Given the description of an element on the screen output the (x, y) to click on. 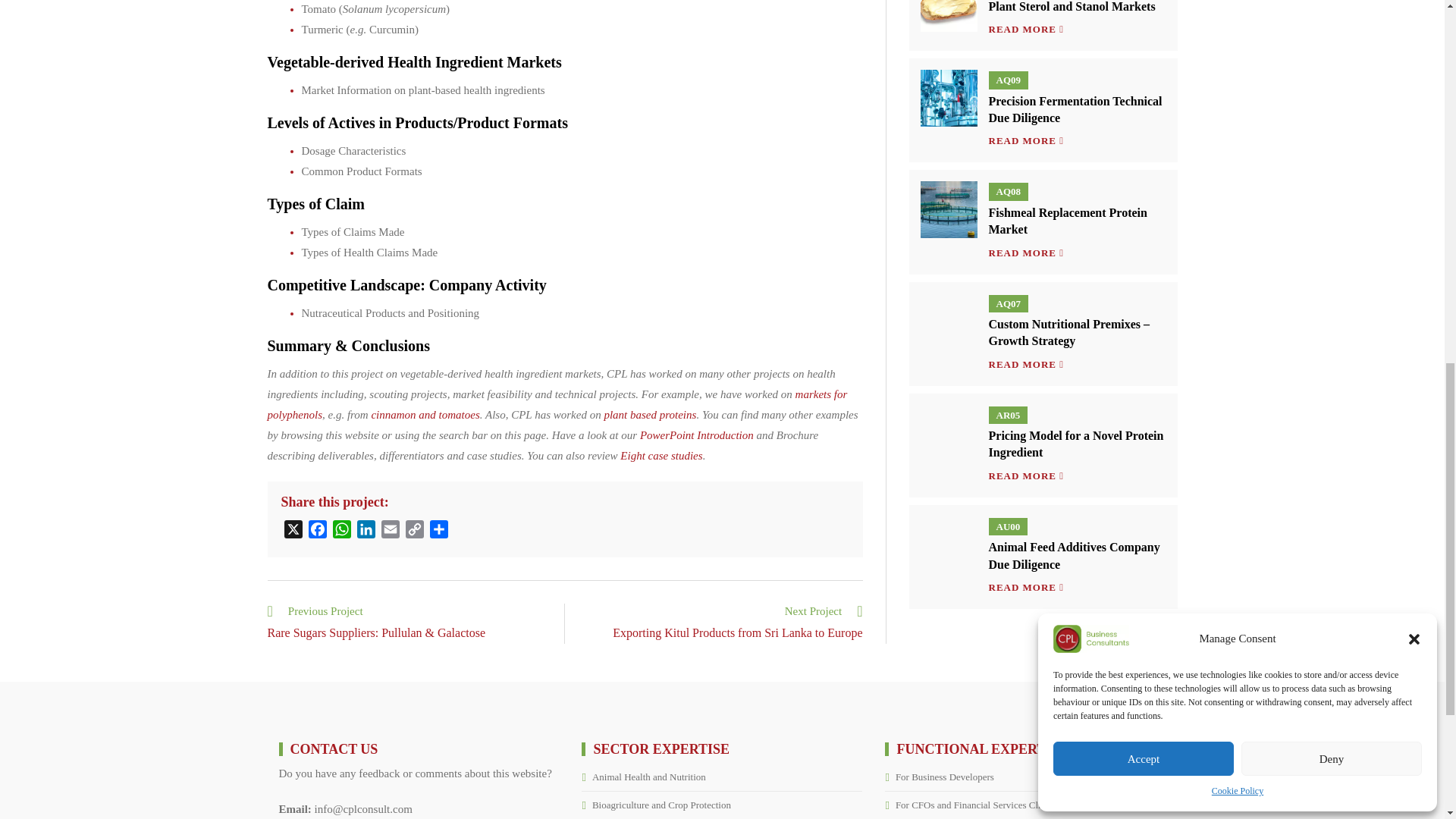
WhatsApp (341, 531)
Email (389, 531)
LinkedIn (365, 531)
X (292, 531)
Facebook (316, 531)
Copy Link (413, 531)
